Given the description of an element on the screen output the (x, y) to click on. 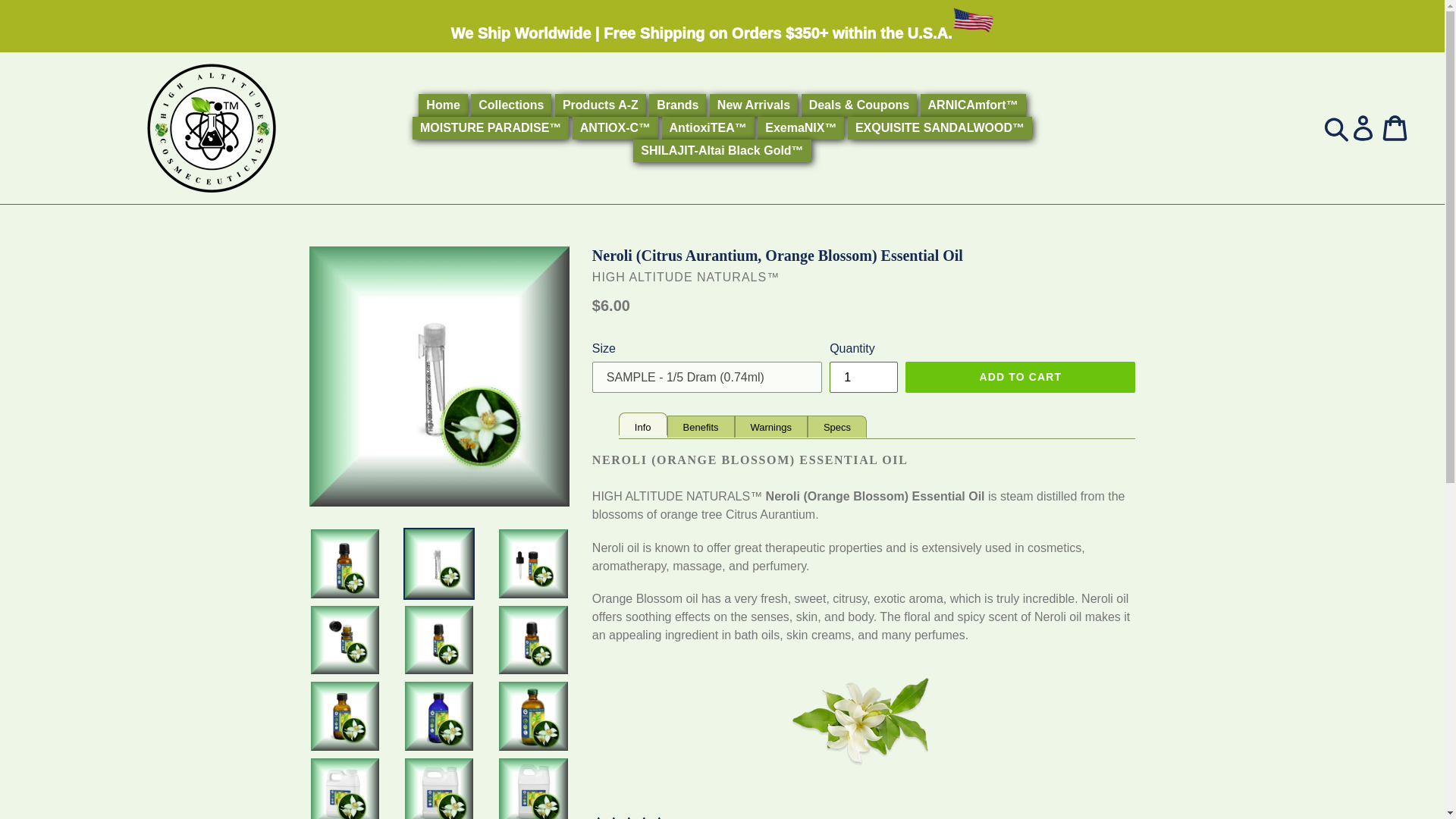
Collections (510, 105)
New Arrivals (753, 105)
Brands (677, 105)
Submit (1335, 127)
Products A-Z (600, 105)
Home (443, 105)
1 (863, 377)
